Given the description of an element on the screen output the (x, y) to click on. 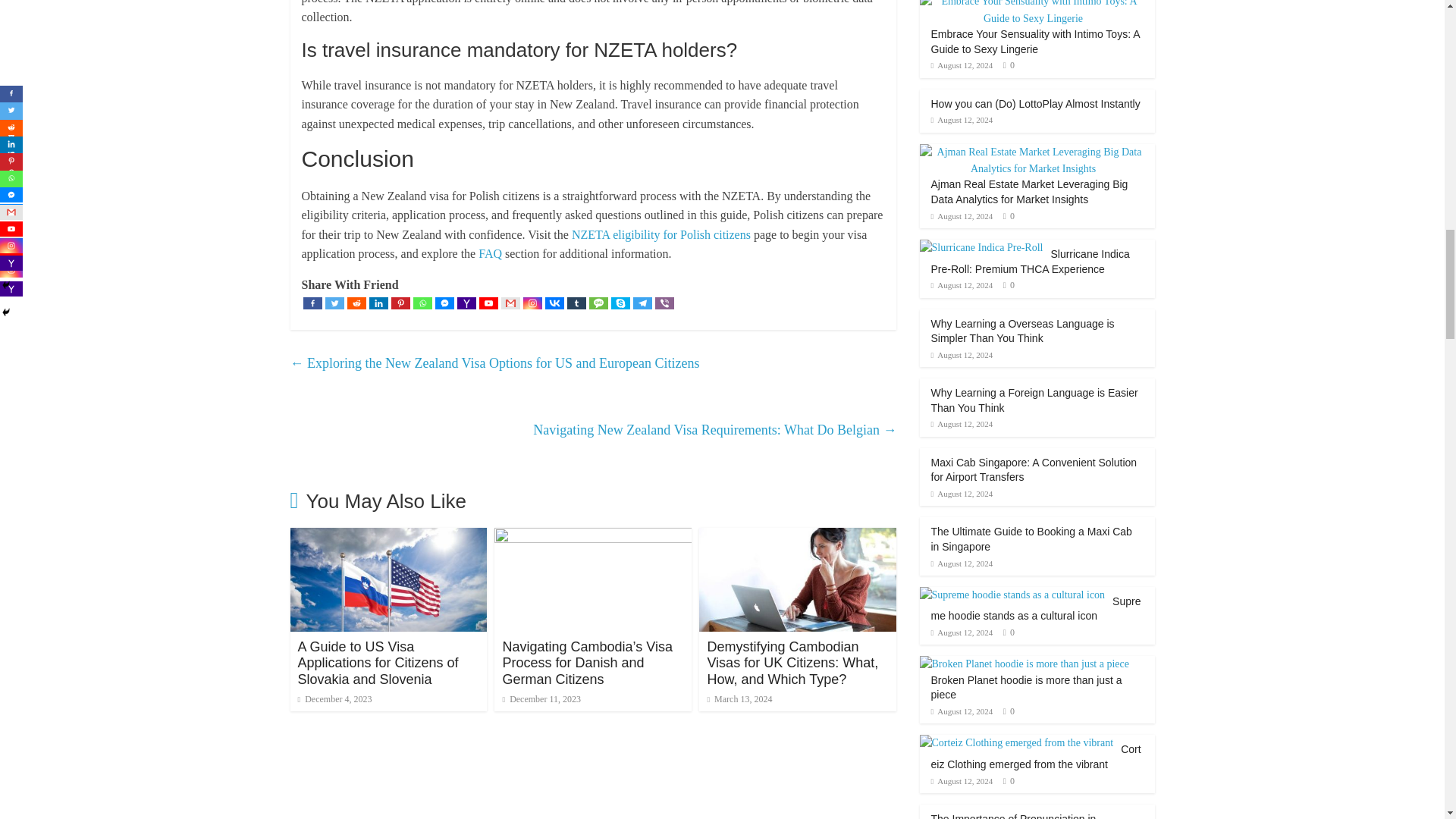
Pinterest (400, 303)
Yahoo Mail (466, 303)
NZETA eligibility for Polish citizens (661, 234)
Linkedin (377, 303)
Twitter (333, 303)
Facebook (311, 303)
Google Gmail (509, 303)
Youtube (488, 303)
Reddit (356, 303)
FAQ (490, 253)
